Given the description of an element on the screen output the (x, y) to click on. 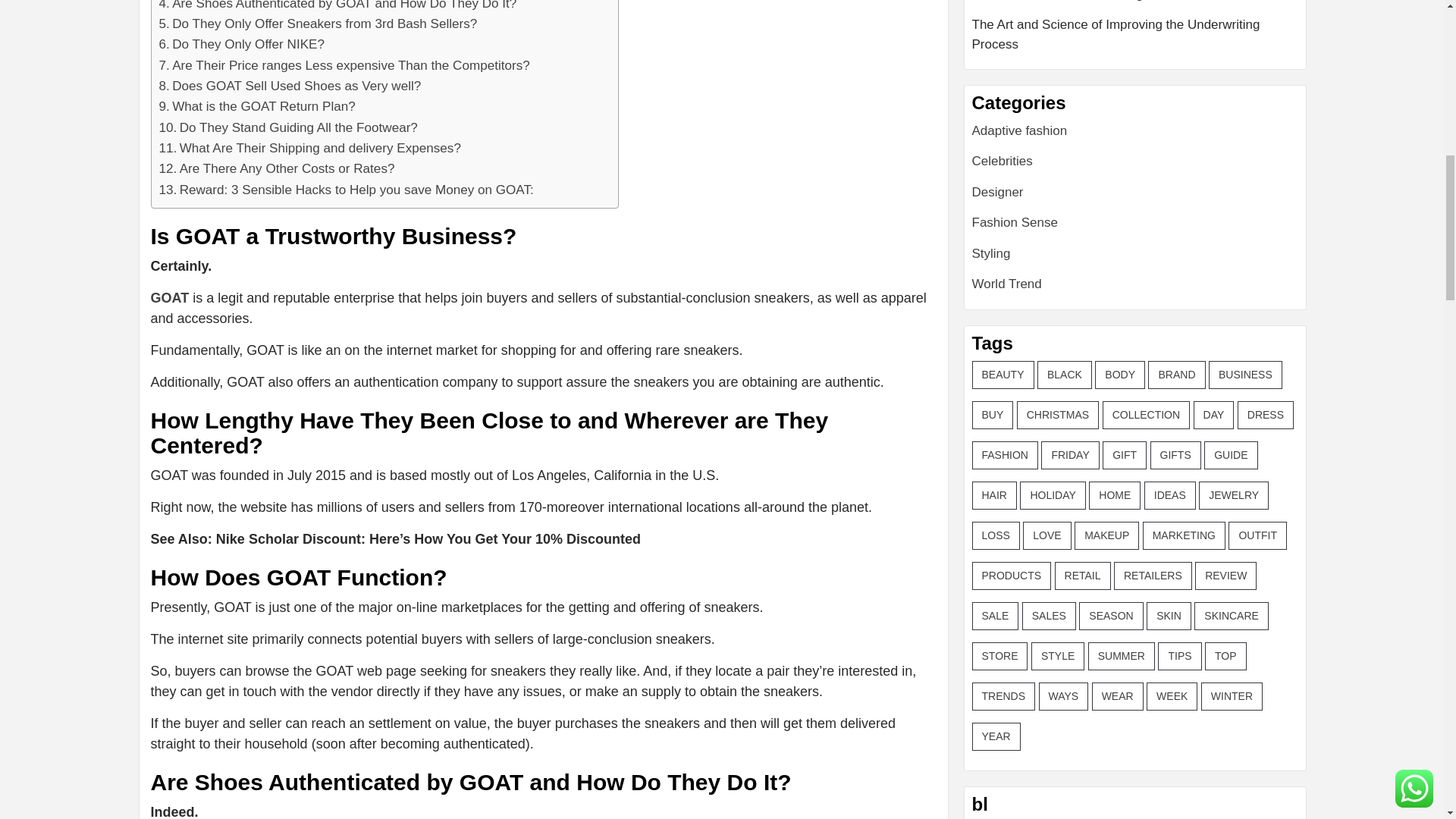
Do They Only Offer NIKE? (241, 44)
Do They Only Offer NIKE? (241, 44)
Are There Any Other Costs or Rates? (276, 168)
Are Their Price ranges Less expensive Than the Competitors? (343, 65)
Do They Only Offer Sneakers from 3rd Bash Sellers? (317, 23)
Are There Any Other Costs or Rates? (276, 168)
GOAT (169, 297)
Are Shoes Authenticated by GOAT and How Do They Do It? (337, 6)
What is the GOAT Return Plan? (256, 106)
Does GOAT Sell Used Shoes as Very well? (290, 86)
What Are Their Shipping and delivery Expenses? (309, 148)
Do They Stand Guiding All the Footwear? (287, 127)
Do They Only Offer Sneakers from 3rd Bash Sellers? (317, 23)
Do They Stand Guiding All the Footwear? (287, 127)
What Are Their Shipping and delivery Expenses? (309, 148)
